Given the description of an element on the screen output the (x, y) to click on. 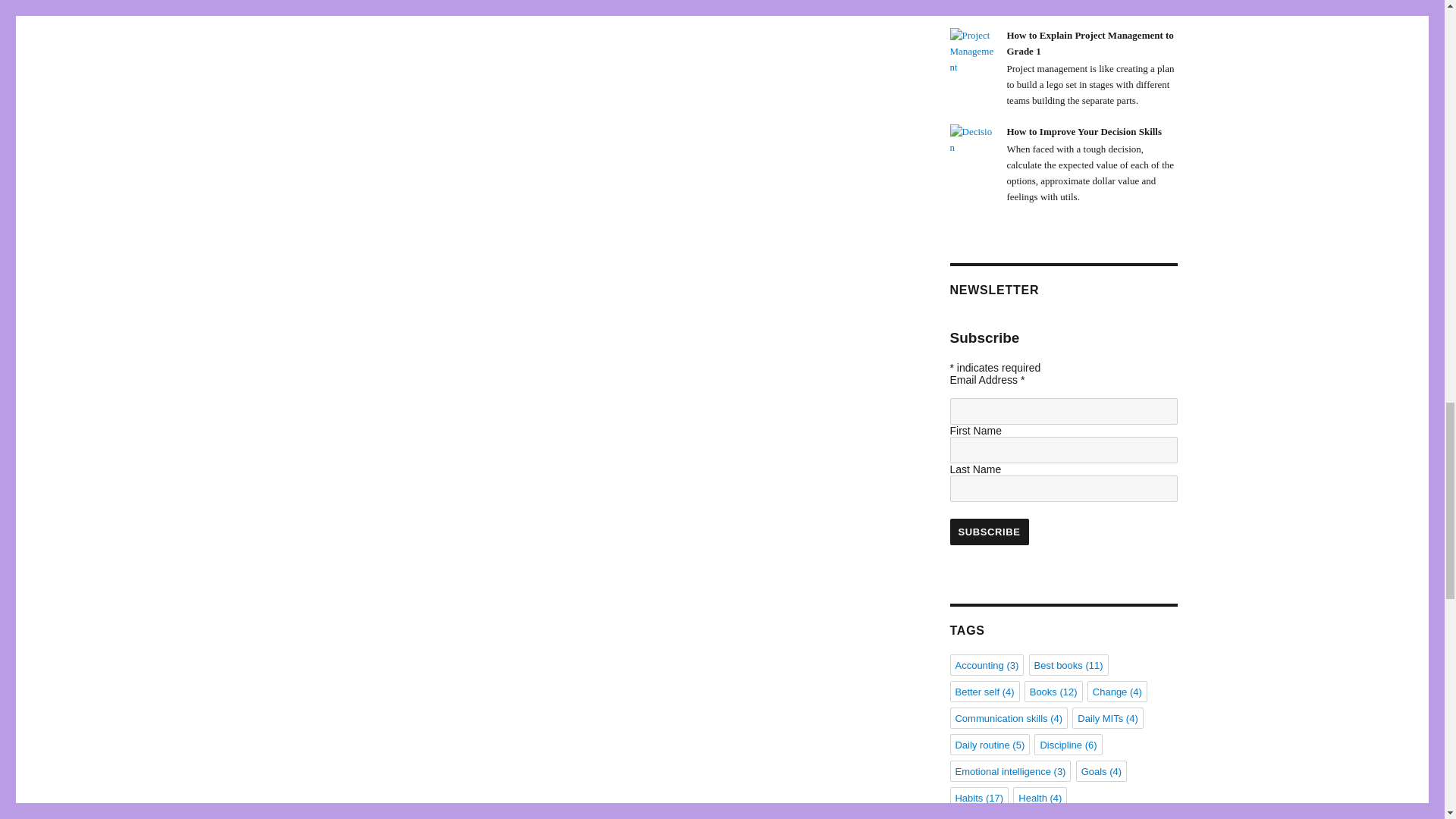
How to Improve Your Decision Skills (971, 138)
How to Explain Project Management to Grade 1 (971, 50)
Subscribe (988, 531)
